Given the description of an element on the screen output the (x, y) to click on. 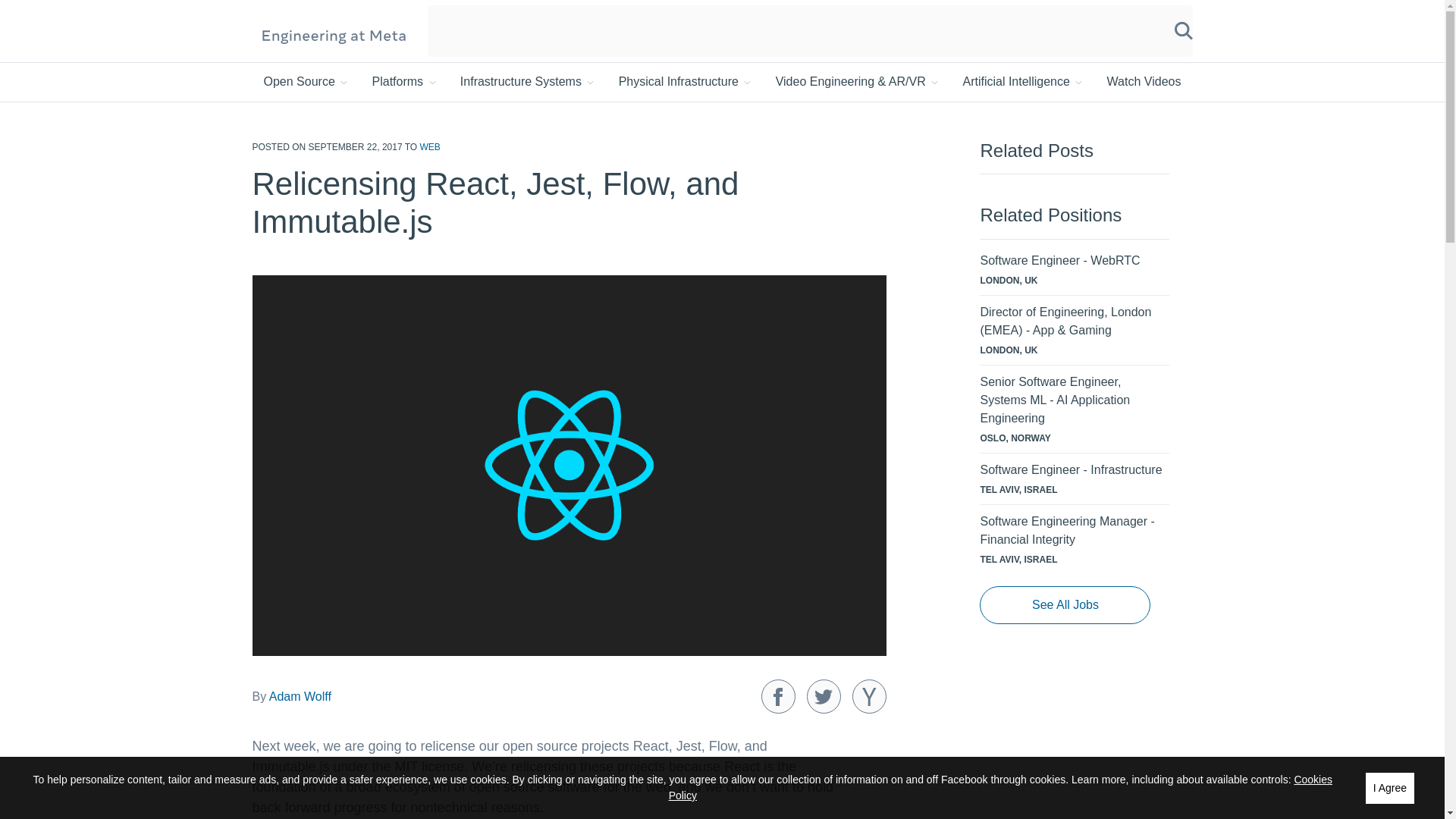
Infrastructure Systems (528, 81)
Adam Wolff (300, 696)
Platforms (405, 81)
Open Source (306, 81)
Engineering at Meta (332, 35)
Watch Videos (1143, 81)
WEB (429, 145)
Platforms (405, 81)
Infrastructure Systems (528, 81)
Artificial Intelligence (1023, 81)
